Given the description of an element on the screen output the (x, y) to click on. 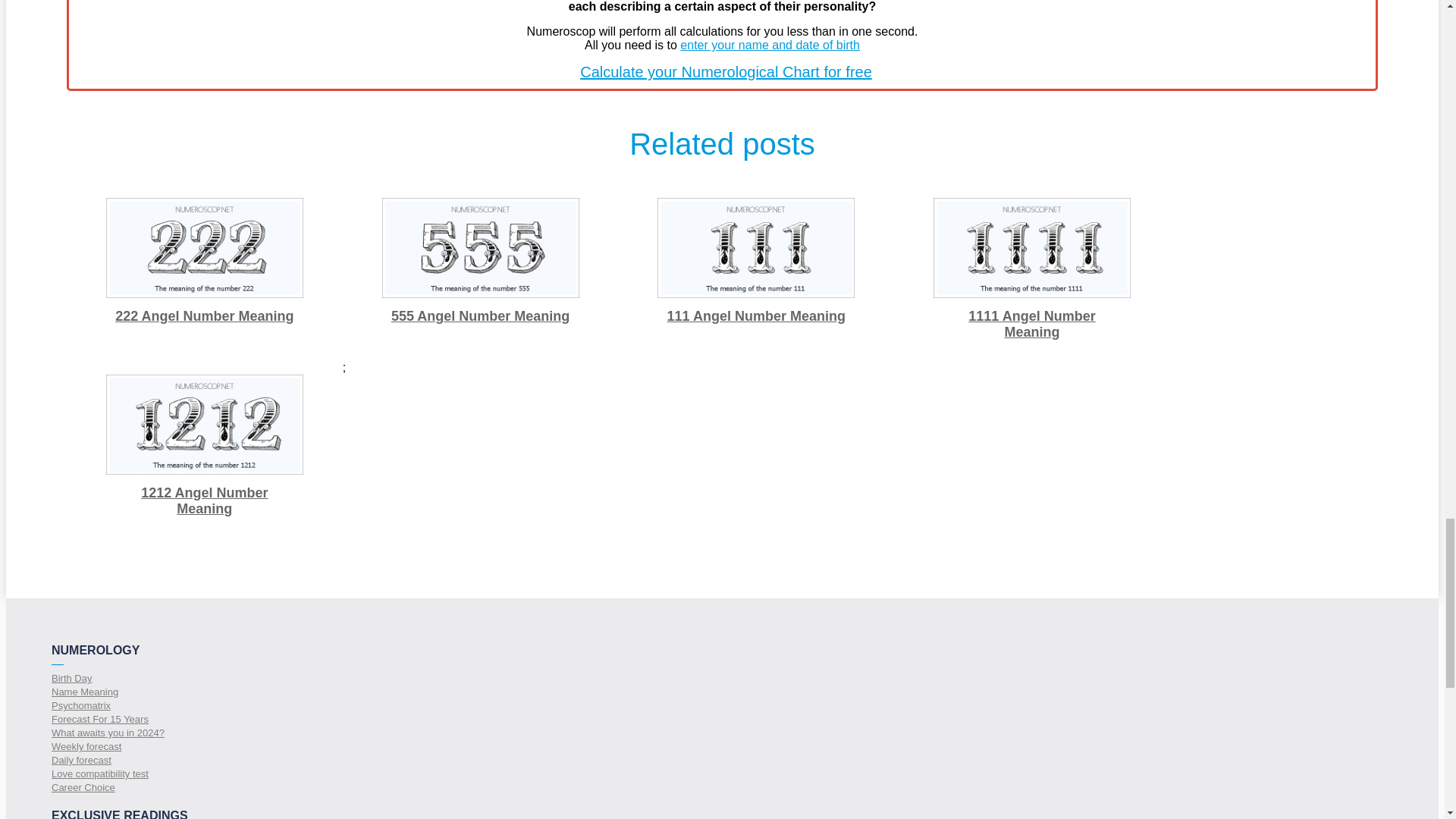
Calculate your Numerological Chart for free (725, 71)
Angel number 222 meaning (204, 248)
Angel number 555 meaning (480, 248)
enter your name and date of birth (769, 44)
Angel number 1212 meaning (204, 424)
Angel number 111 meaning (756, 248)
Angel number 1111 meaning (1032, 248)
